Given the description of an element on the screen output the (x, y) to click on. 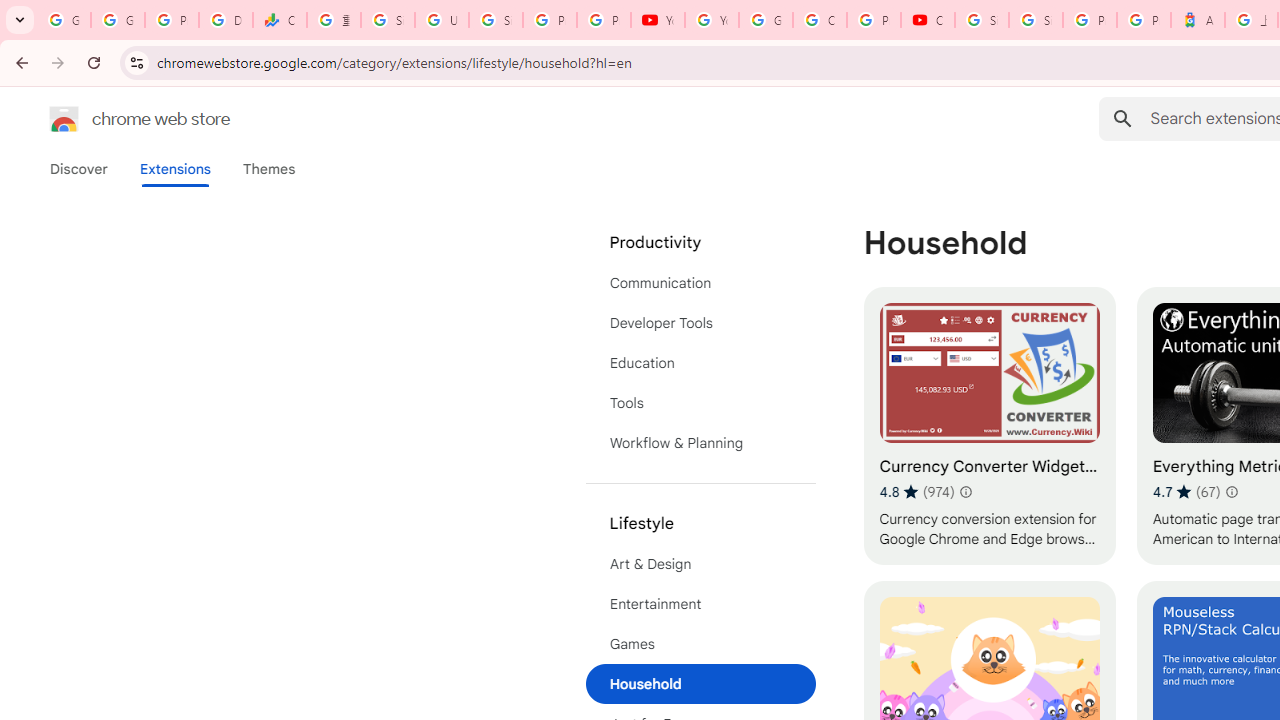
Average rating 4.7 out of 5 stars. 67 ratings. (1186, 491)
Chrome Web Store logo chrome web store (118, 118)
Privacy Checkup (604, 20)
Household (selected) (700, 683)
Sign in - Google Accounts (1035, 20)
Content Creator Programs & Opportunities - YouTube Creators (927, 20)
Currencies - Google Finance (280, 20)
Average rating 4.8 out of 5 stars. 974 ratings. (916, 491)
Create your Google Account (819, 20)
